Given the description of an element on the screen output the (x, y) to click on. 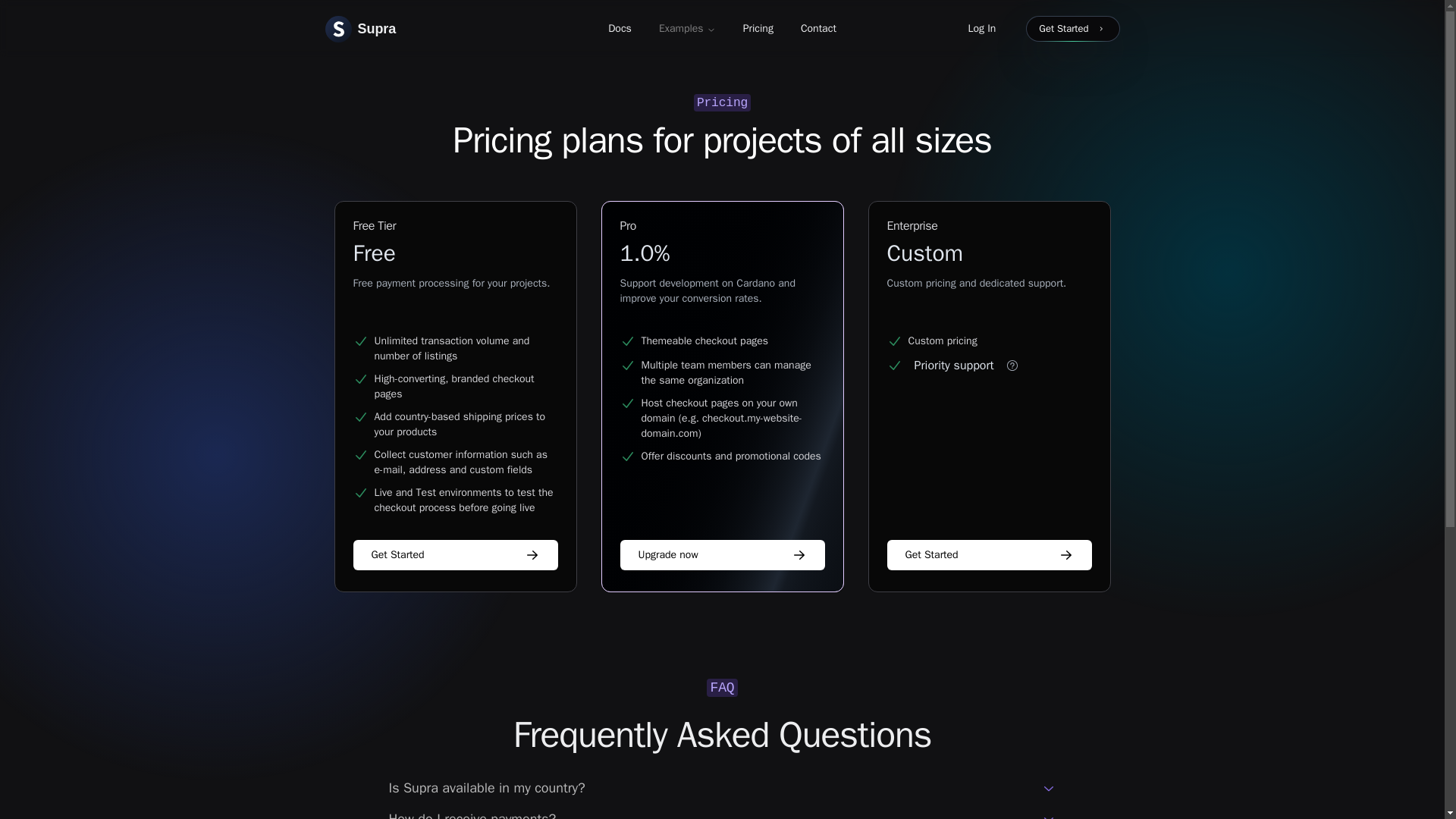
Log In (981, 28)
Get Started (1072, 28)
Contact (818, 28)
Get Started (989, 554)
Get Started (360, 28)
Get Started (455, 554)
Pricing (1072, 28)
Upgrade now (758, 28)
Examples (722, 554)
